Given the description of an element on the screen output the (x, y) to click on. 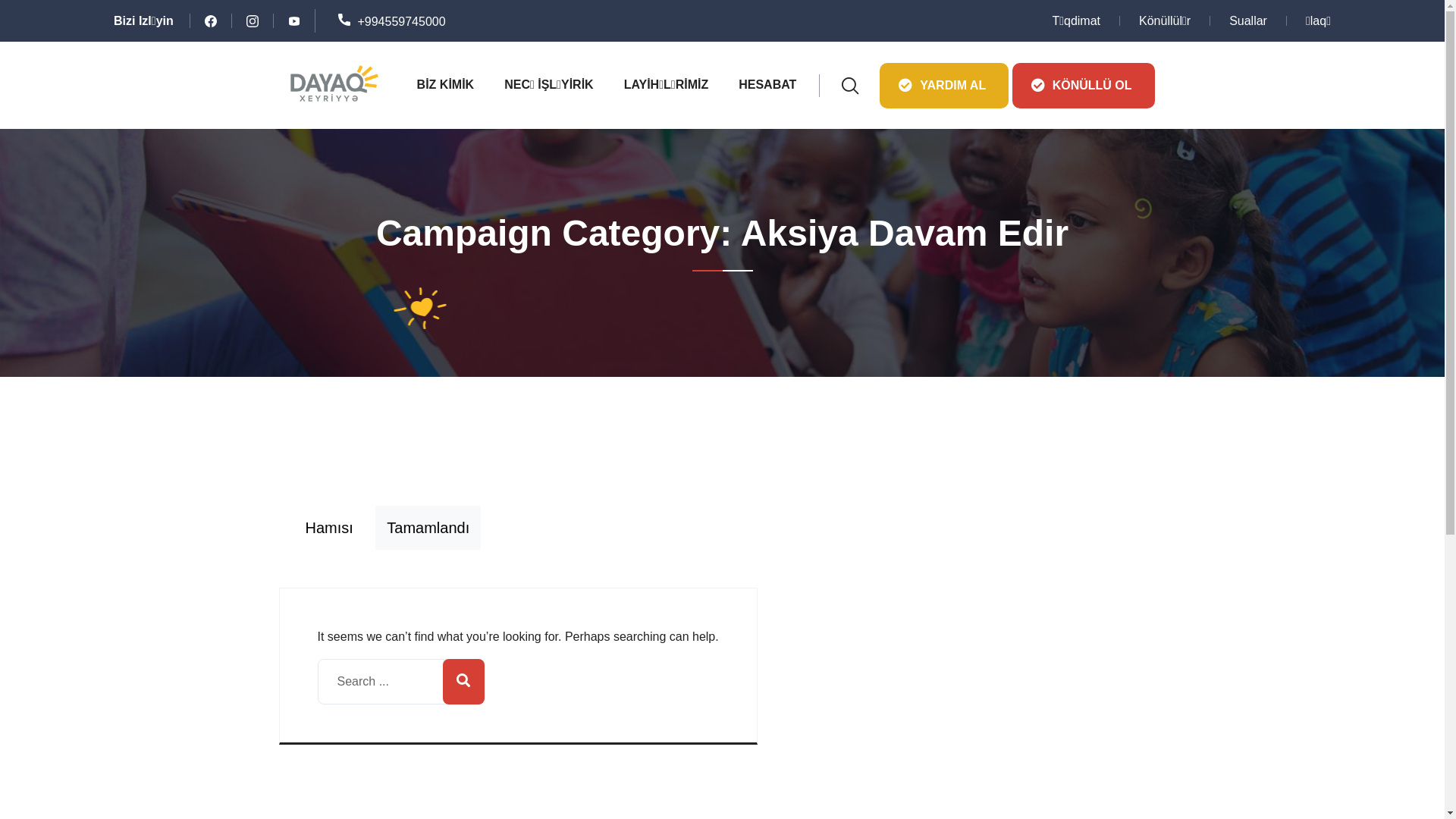
Suallar Element type: text (1248, 20)
+994559745000 Element type: text (391, 21)
YARDIM AL Element type: text (943, 84)
HESABAT Element type: text (767, 84)
